Given the description of an element on the screen output the (x, y) to click on. 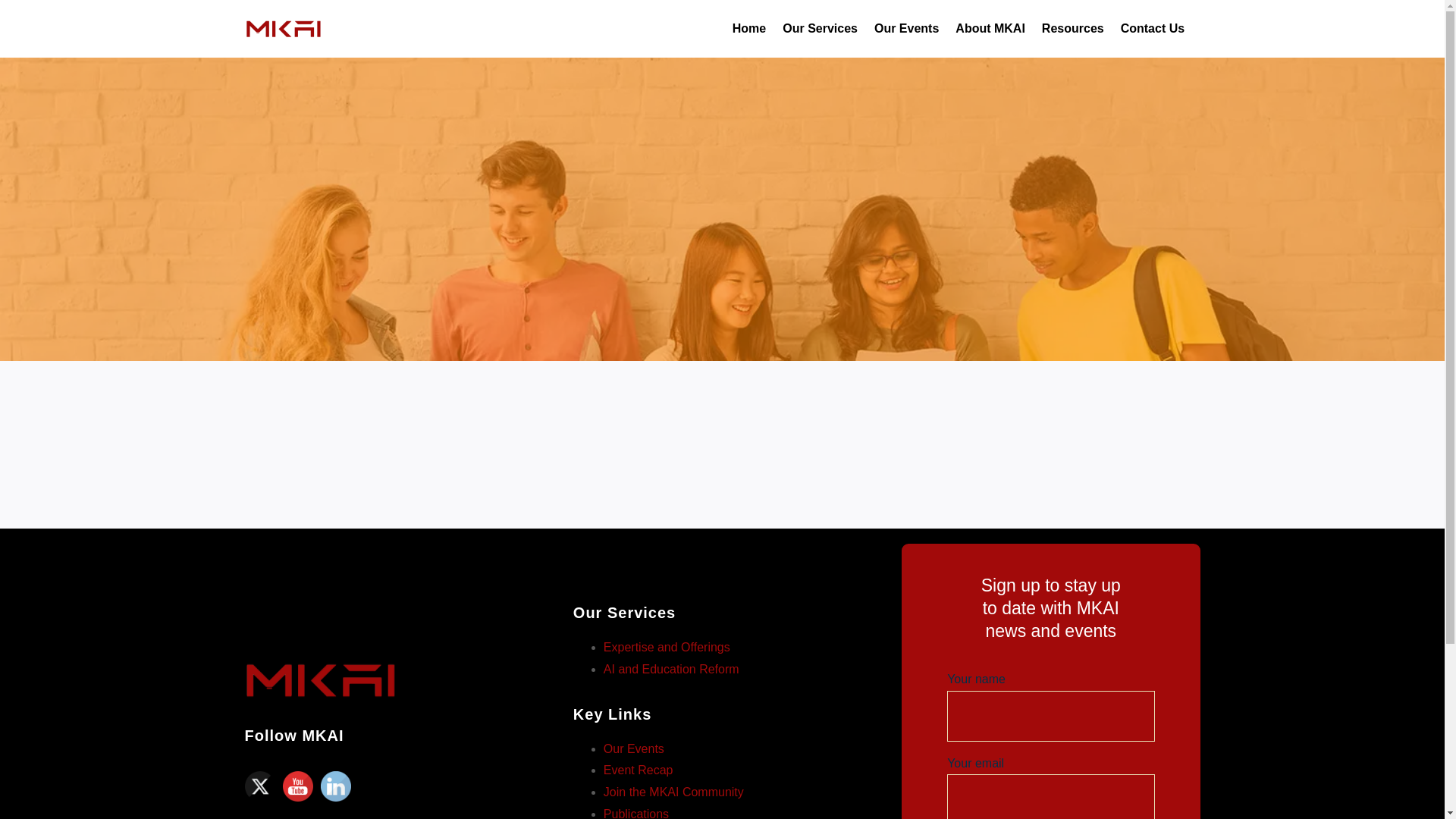
Contact Us (1153, 28)
Our Events (907, 28)
Resources (1072, 28)
Our Services (820, 28)
About MKAI (990, 28)
